Given the description of an element on the screen output the (x, y) to click on. 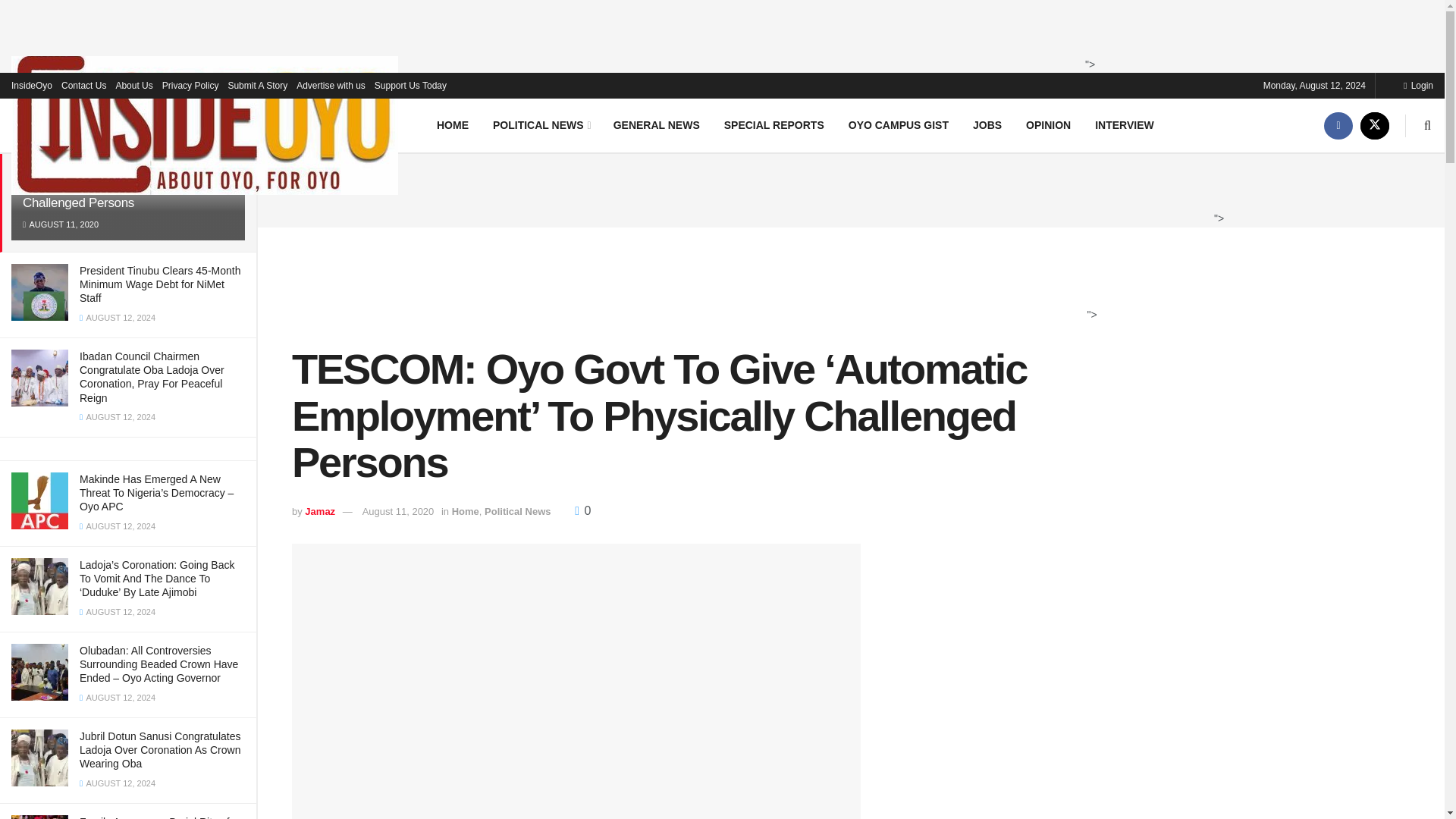
Advertise with us (331, 85)
Advertisement (718, 284)
Submit A Story (256, 85)
InsideOyo (31, 85)
POLITICAL NEWS (540, 125)
Filter (227, 96)
Advertisement (846, 187)
Support Us Today (410, 85)
